Given the description of an element on the screen output the (x, y) to click on. 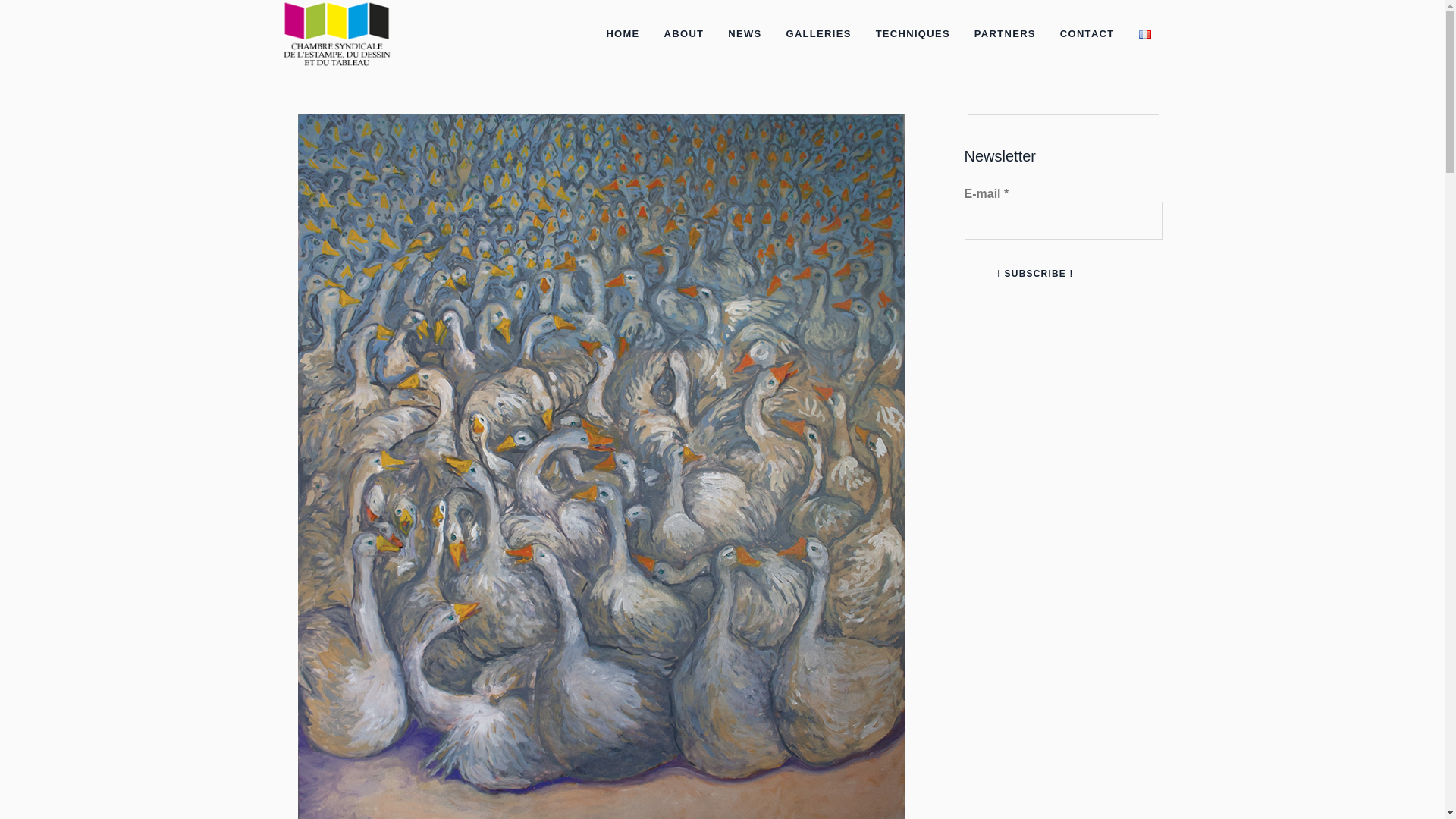
GALLERIES (818, 33)
E-mail (1062, 220)
PARTNERS (1004, 33)
I Subscribe ! (1034, 273)
I Subscribe ! (1034, 273)
TECHNIQUES (911, 33)
ABOUT (684, 33)
CONTACT (1086, 33)
